Given the description of an element on the screen output the (x, y) to click on. 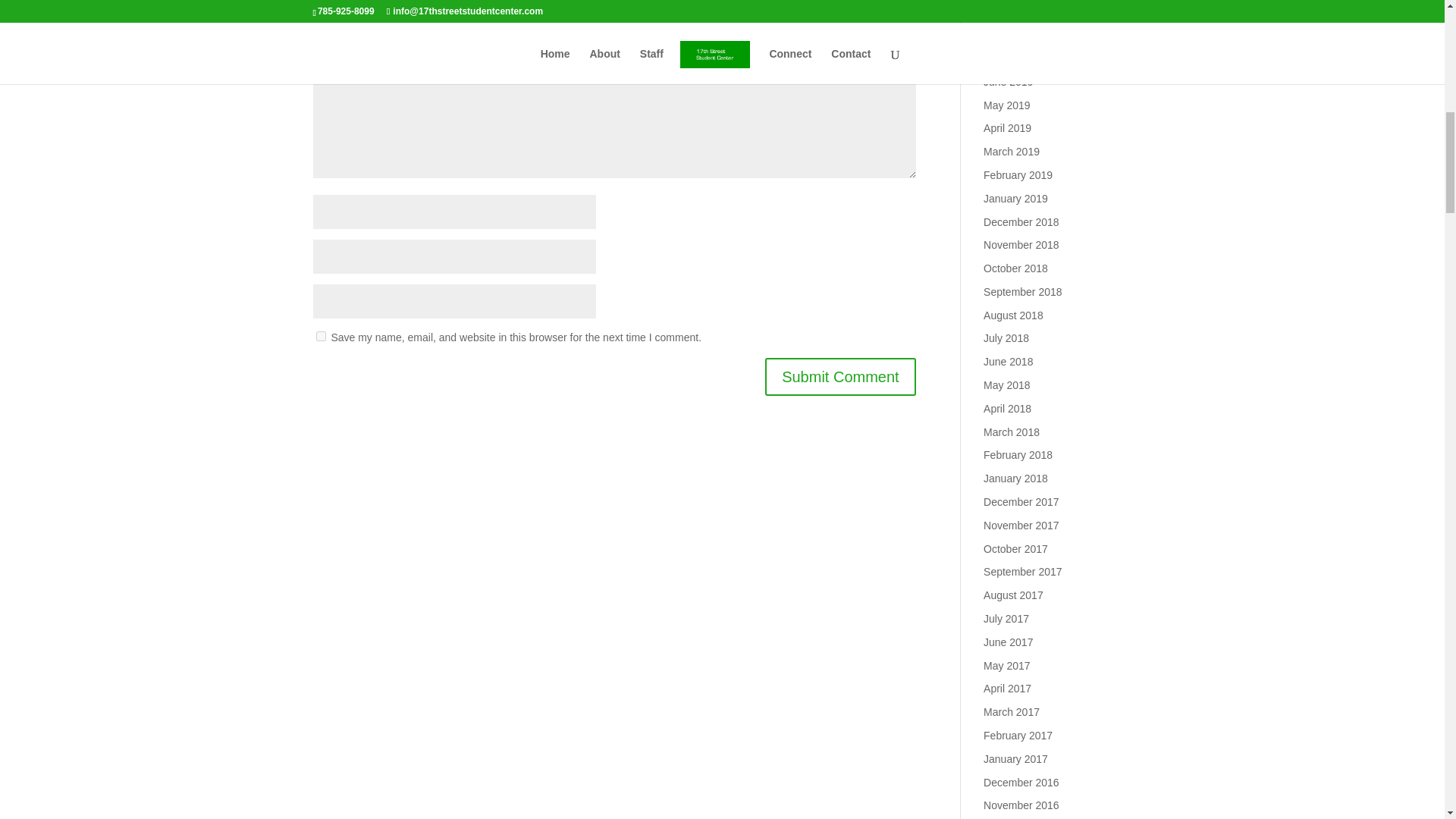
yes (319, 336)
Submit Comment (840, 376)
Submit Comment (840, 376)
